Given the description of an element on the screen output the (x, y) to click on. 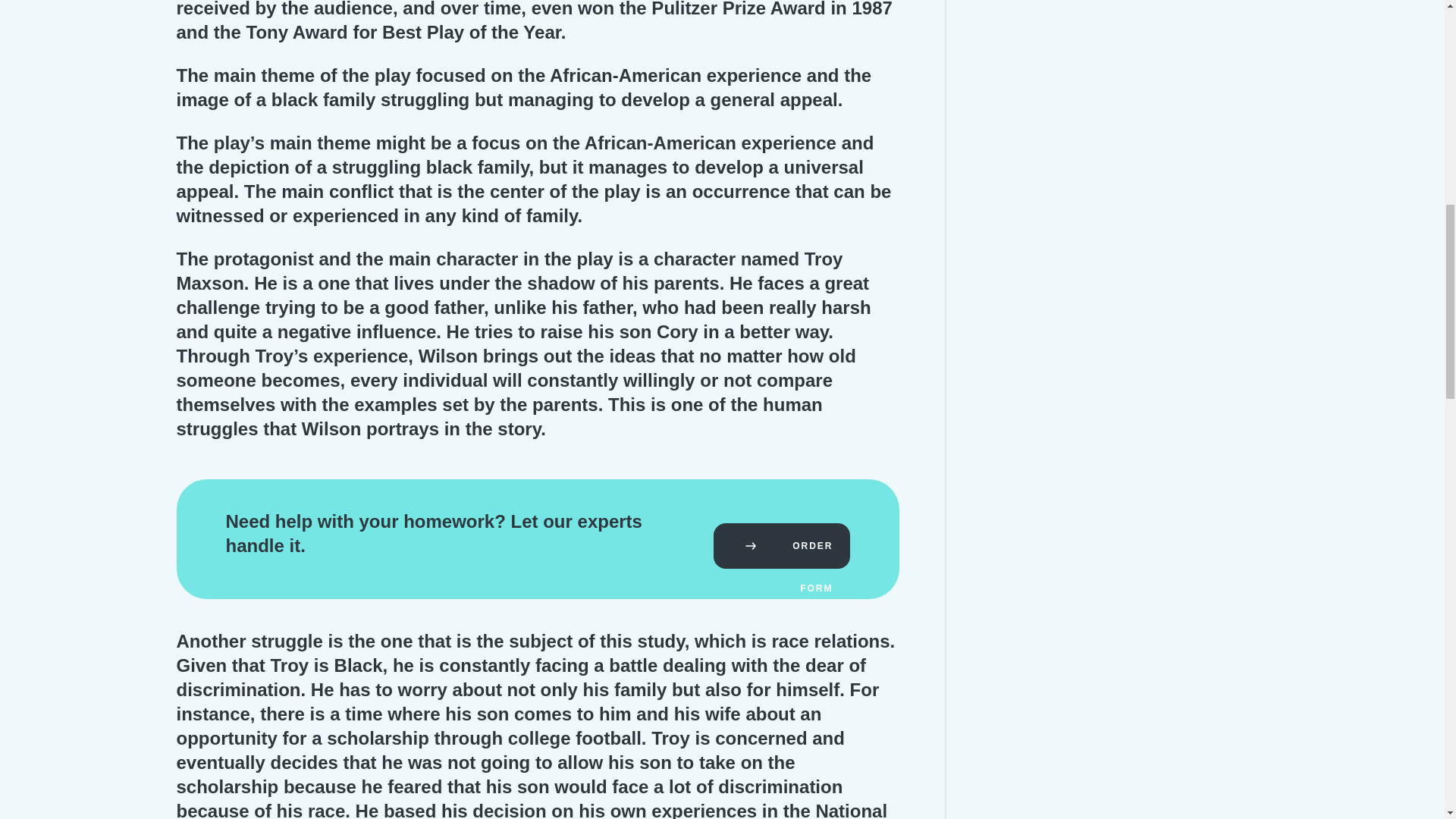
ORDER FORM (780, 545)
